Given the description of an element on the screen output the (x, y) to click on. 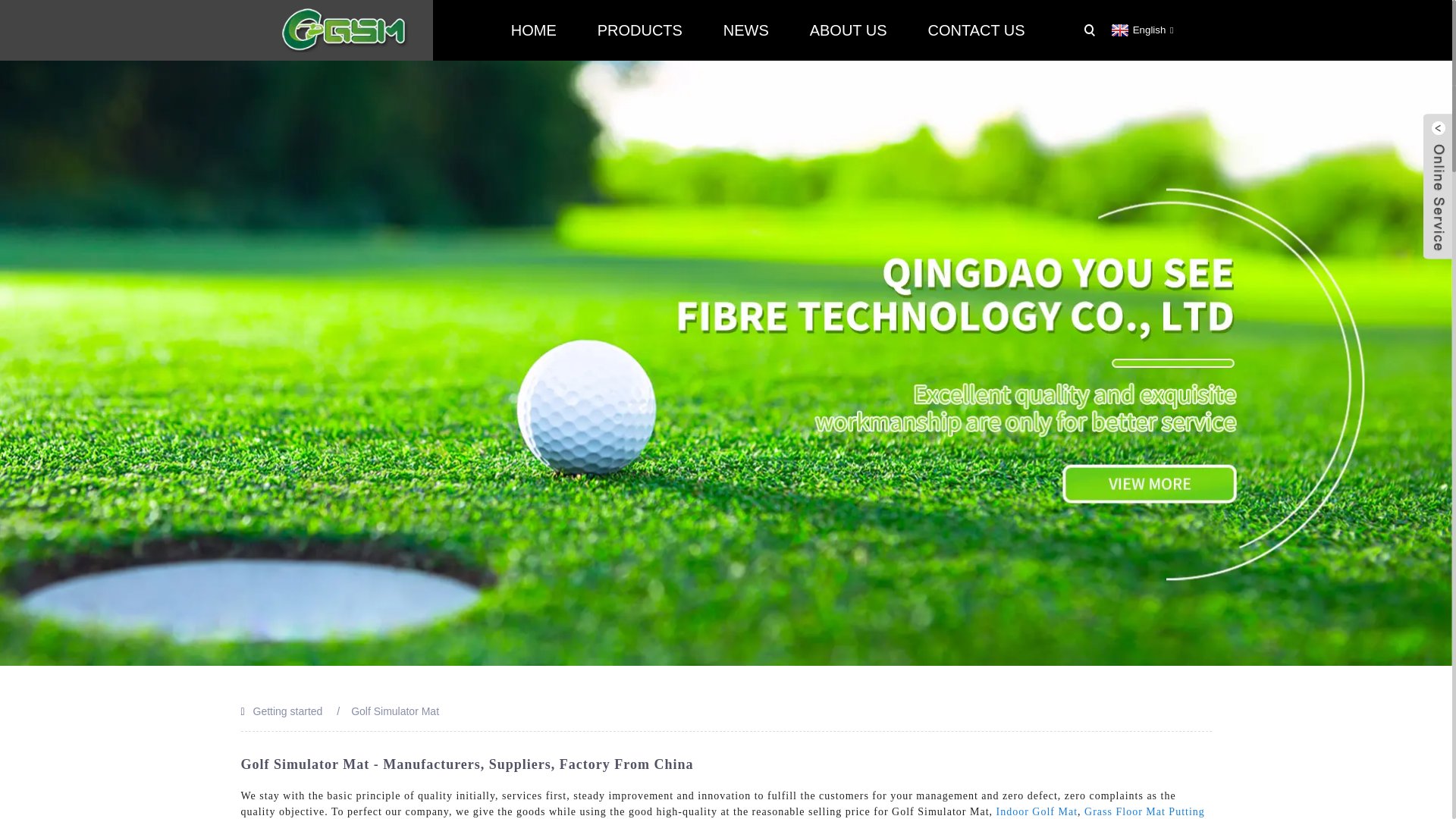
PRODUCTS (639, 30)
Getting started (288, 711)
Indoor Golf Mat (1036, 811)
Grass Floor Mat Putting Green (723, 812)
Indoor Golf Mat (1036, 811)
ABOUT US (847, 30)
Golf Simulator Mat (394, 711)
English (1140, 30)
Grass Floor Mat Putting Green (723, 812)
CONTACT US (976, 30)
